Given the description of an element on the screen output the (x, y) to click on. 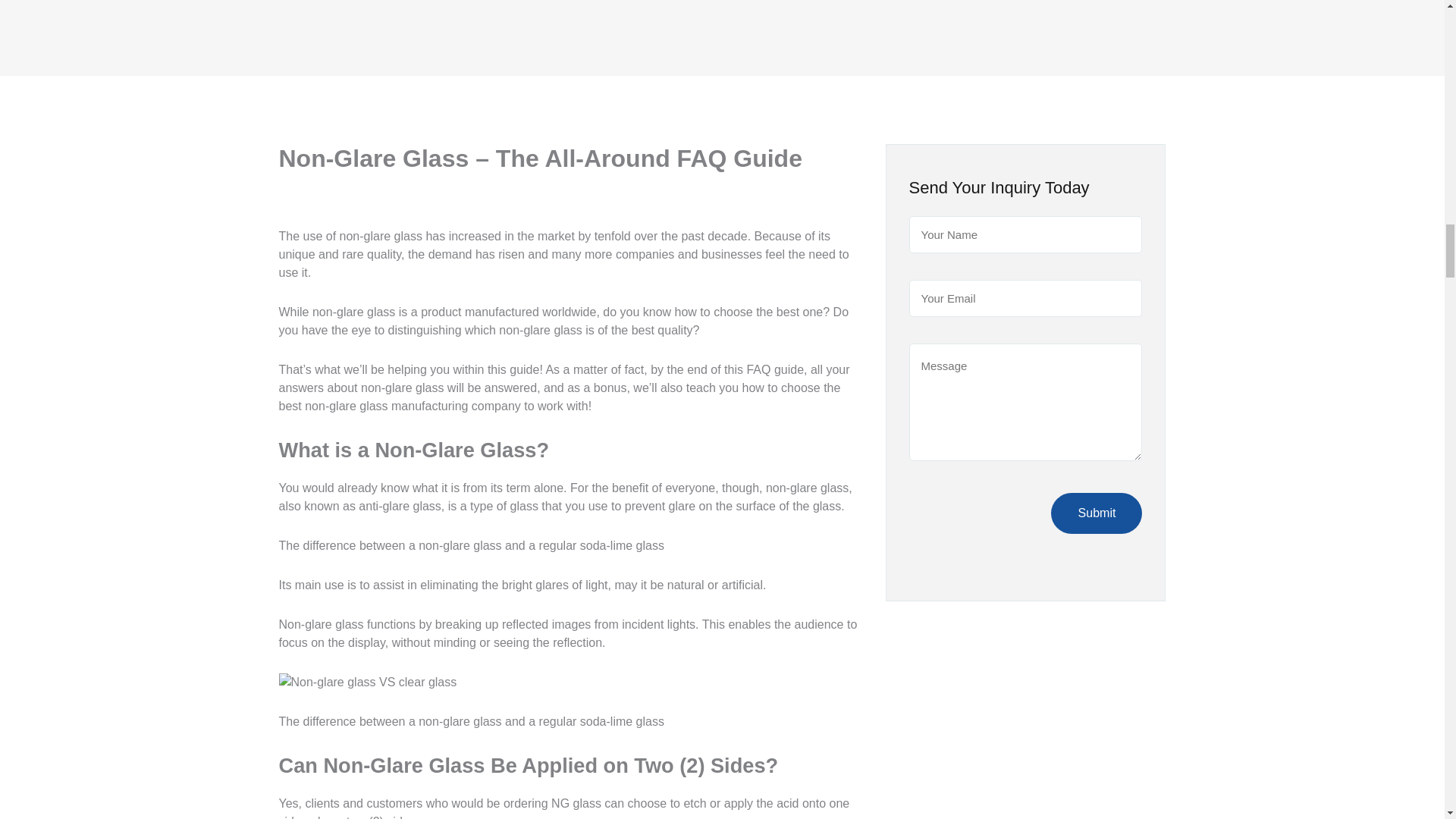
Submit (1096, 513)
